Given the description of an element on the screen output the (x, y) to click on. 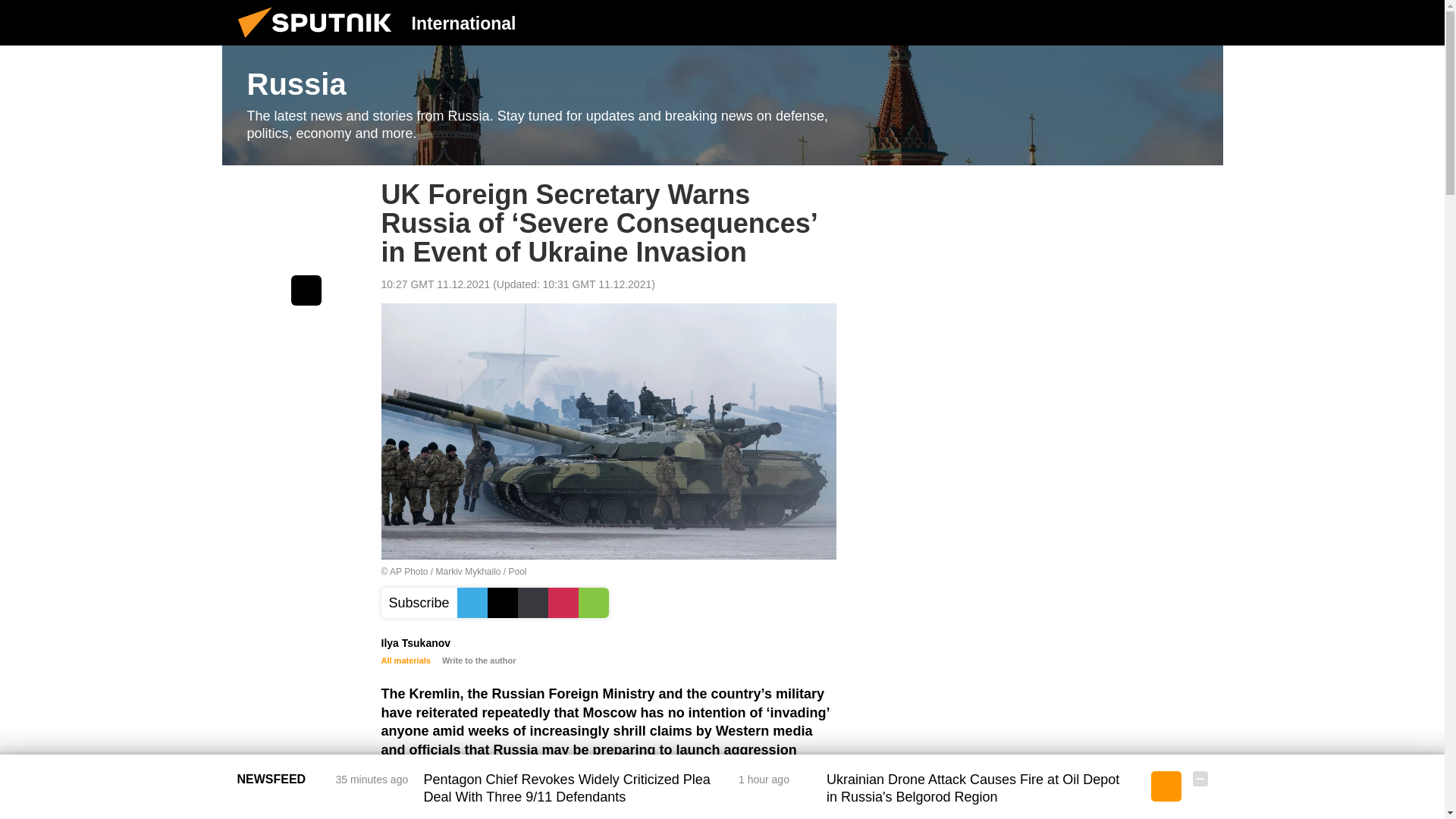
Authorization (1123, 22)
Chats (1199, 22)
Russia (722, 105)
Sputnik International (319, 41)
